Given the description of an element on the screen output the (x, y) to click on. 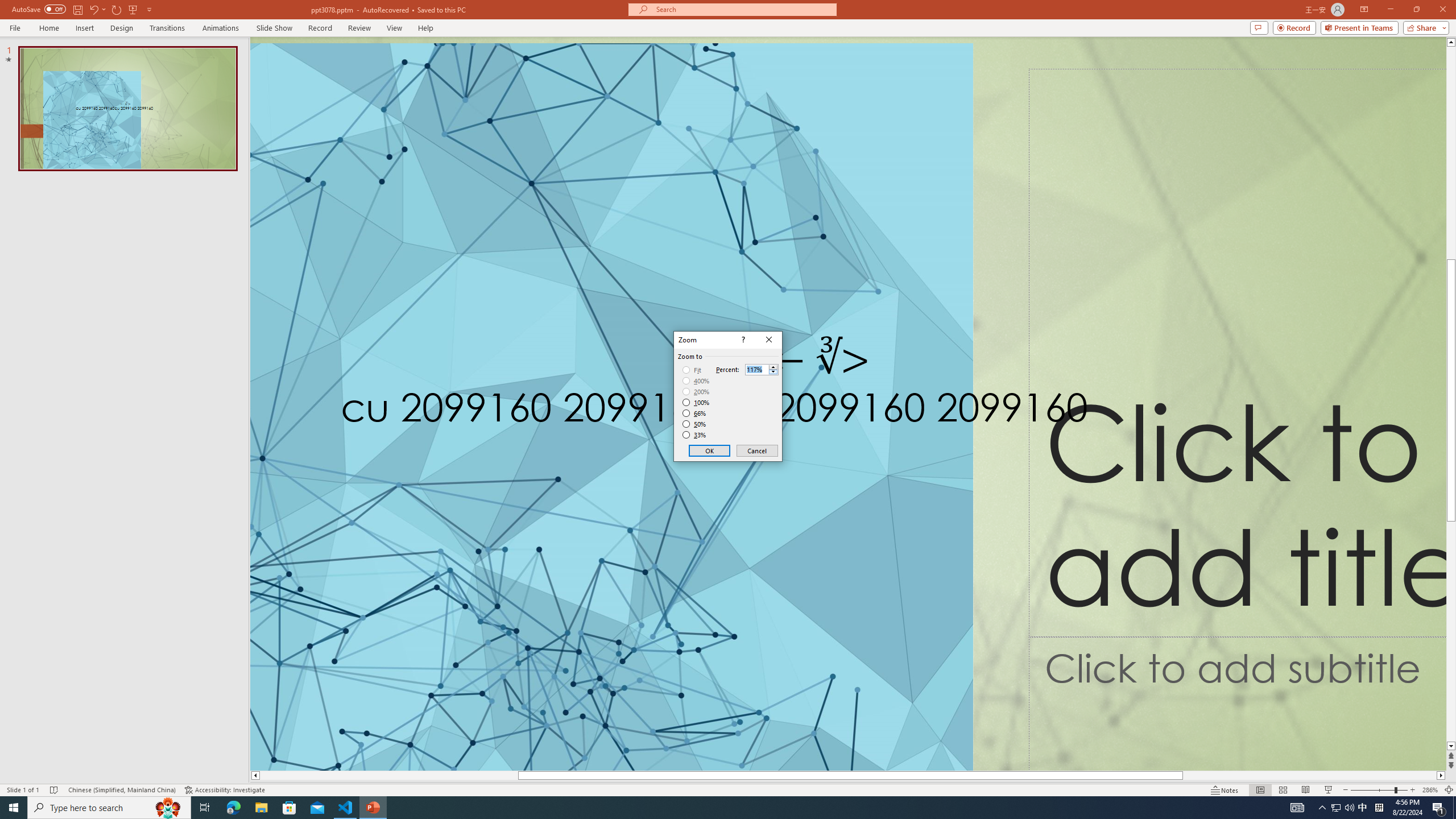
Percent (756, 369)
OK (709, 450)
